Given the description of an element on the screen output the (x, y) to click on. 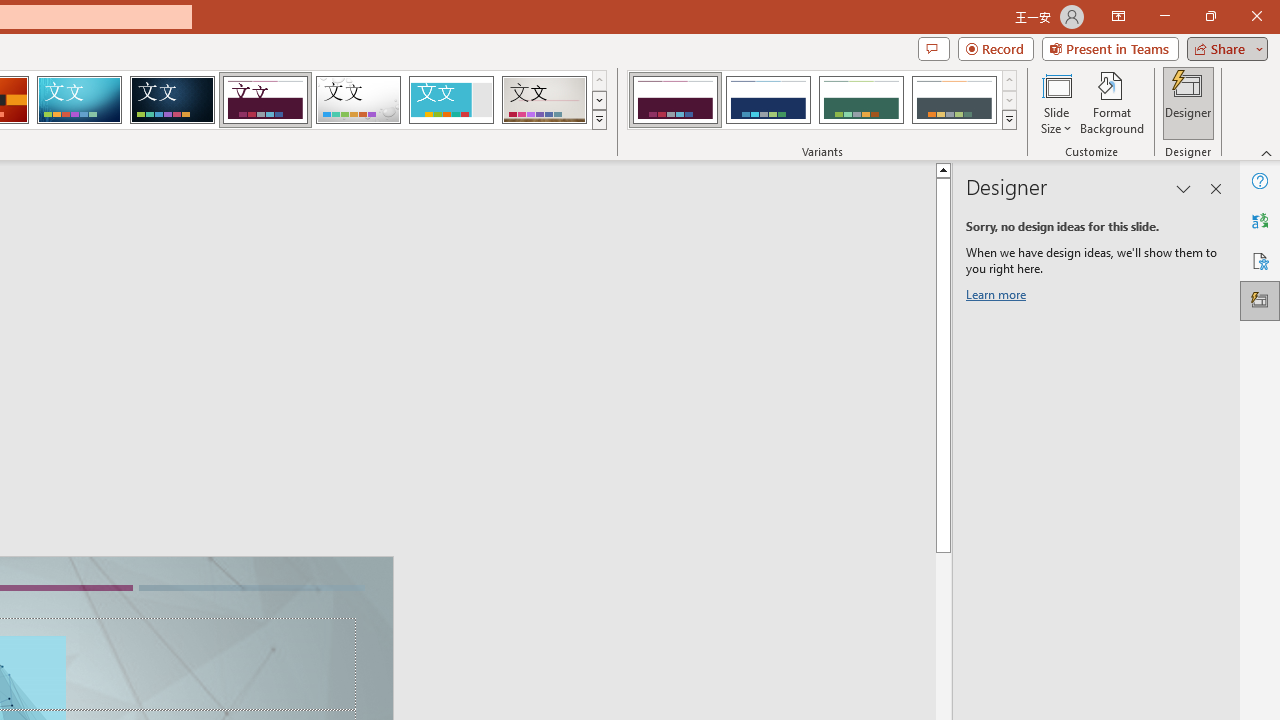
Damask (171, 100)
Frame (450, 100)
AutomationID: ThemeVariantsGallery (822, 99)
Circuit (79, 100)
Dividend Variant 3 (861, 100)
